Given the description of an element on the screen output the (x, y) to click on. 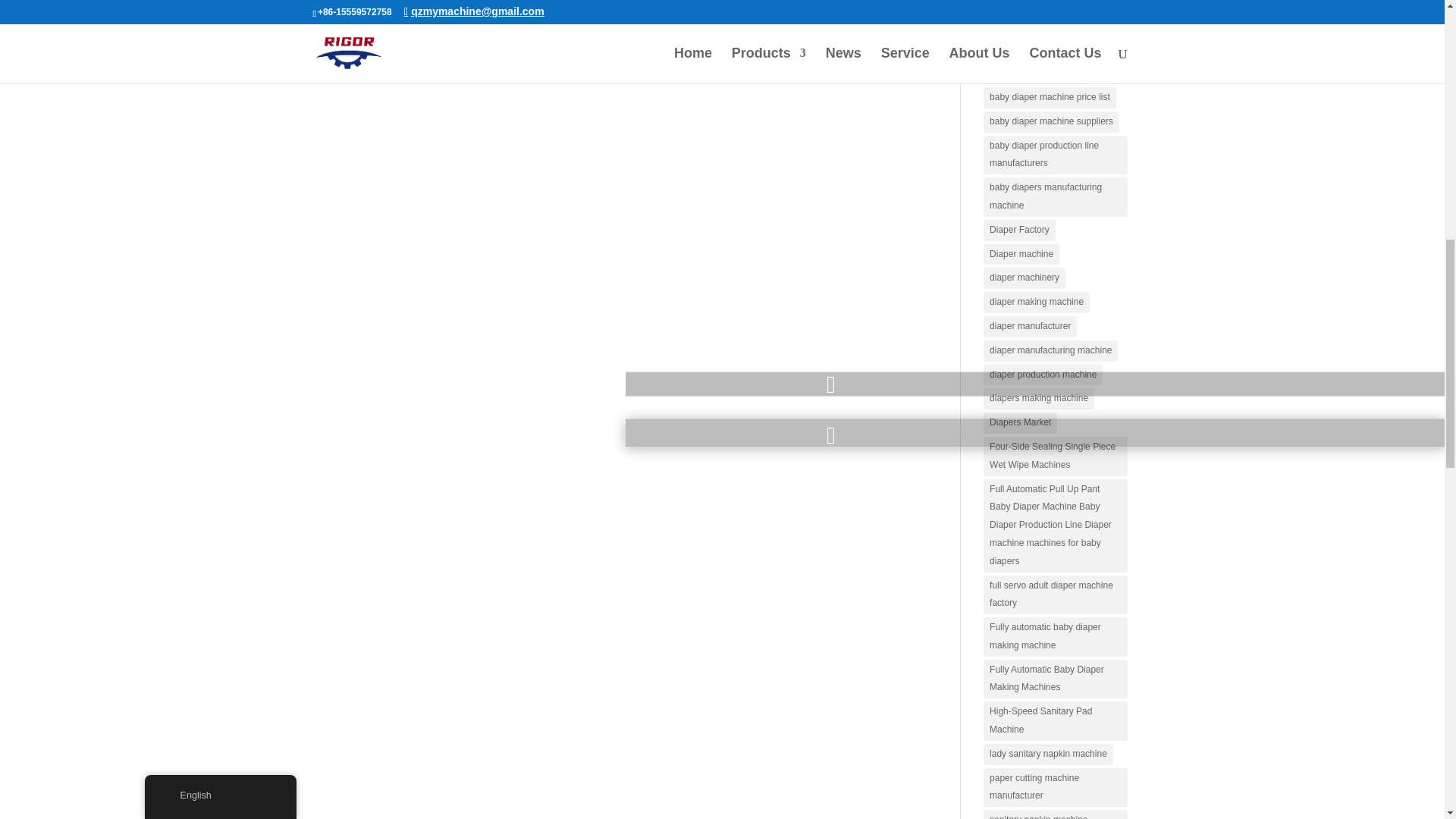
automatic baby diaper machine (1053, 48)
Baby Diaper Machine (1033, 73)
adult diaper manufacturer (1041, 25)
baby diaper machine price list (1050, 97)
